Given the description of an element on the screen output the (x, y) to click on. 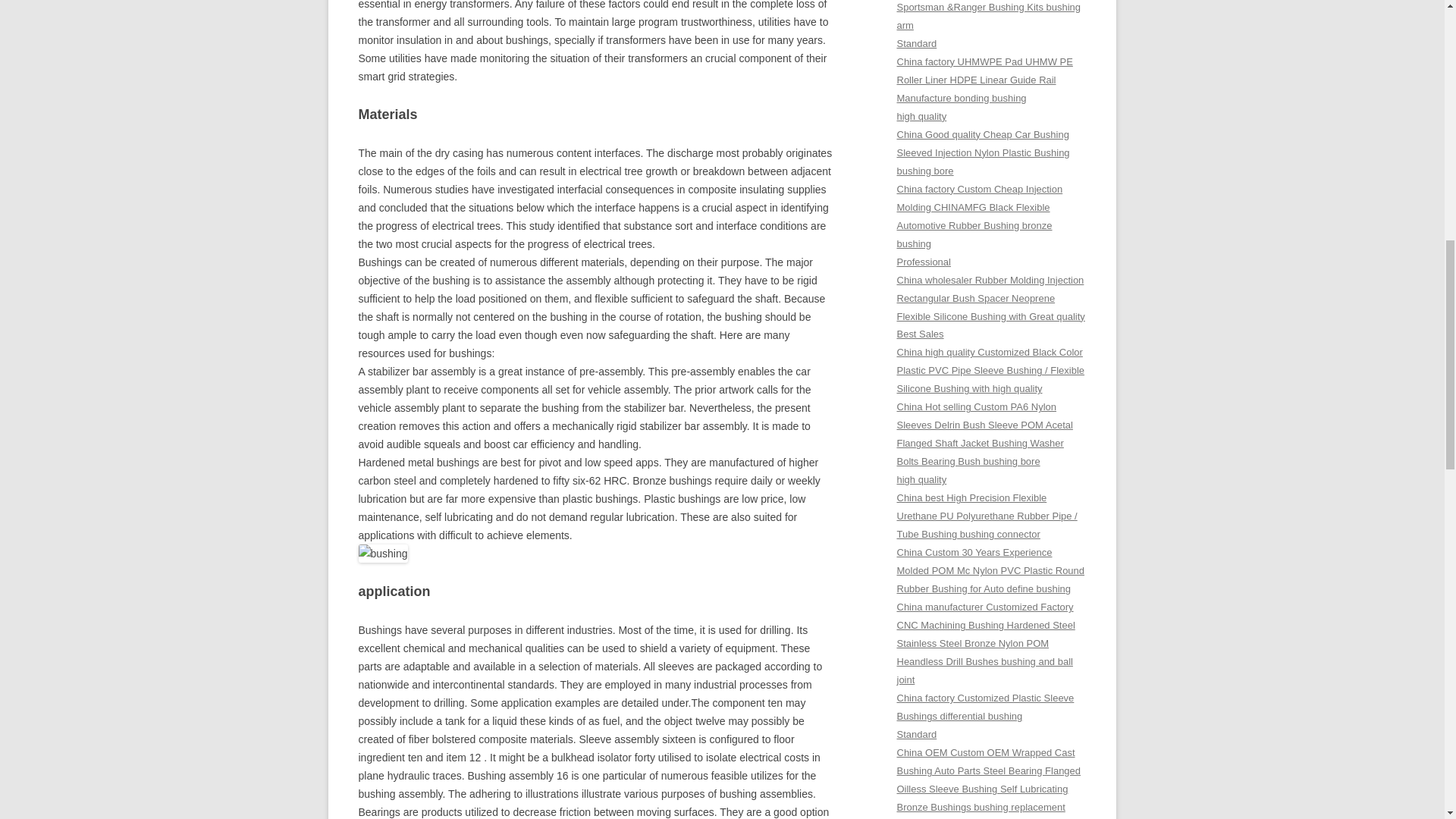
Professional (923, 261)
high quality (921, 479)
Standard (916, 43)
Best Sales (919, 333)
